Given the description of an element on the screen output the (x, y) to click on. 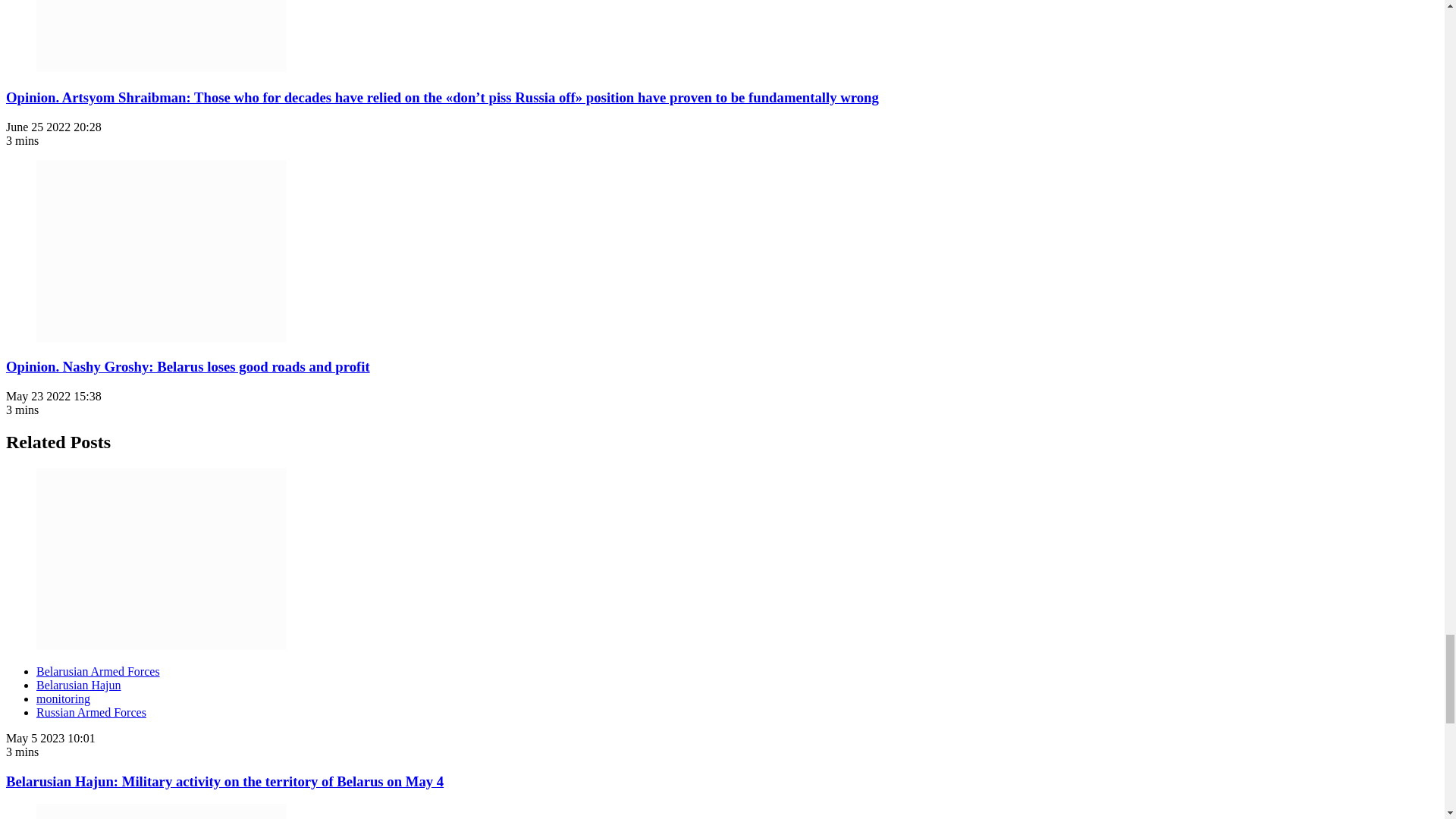
Opinion. Nashy Groshy: Belarus loses good roads and profit (161, 250)
